Given the description of an element on the screen output the (x, y) to click on. 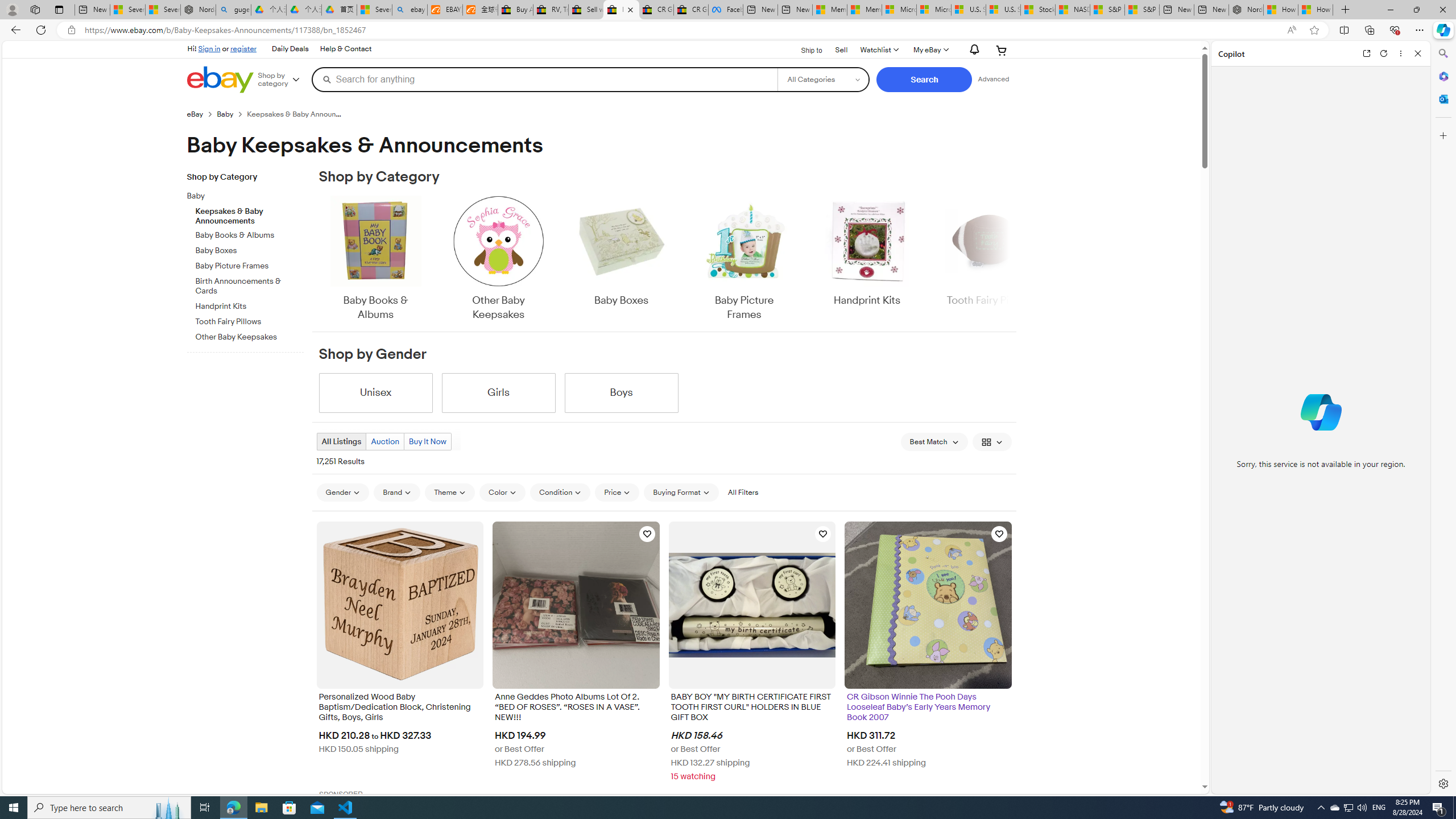
Side bar (1443, 418)
Color (502, 492)
Baby Boxes (621, 251)
WatchlistExpand Watch List (878, 49)
Unisex (375, 392)
Gender (342, 492)
Sort: Best Match (933, 441)
Other Baby Keepsakes (498, 258)
Price (617, 492)
